Given the description of an element on the screen output the (x, y) to click on. 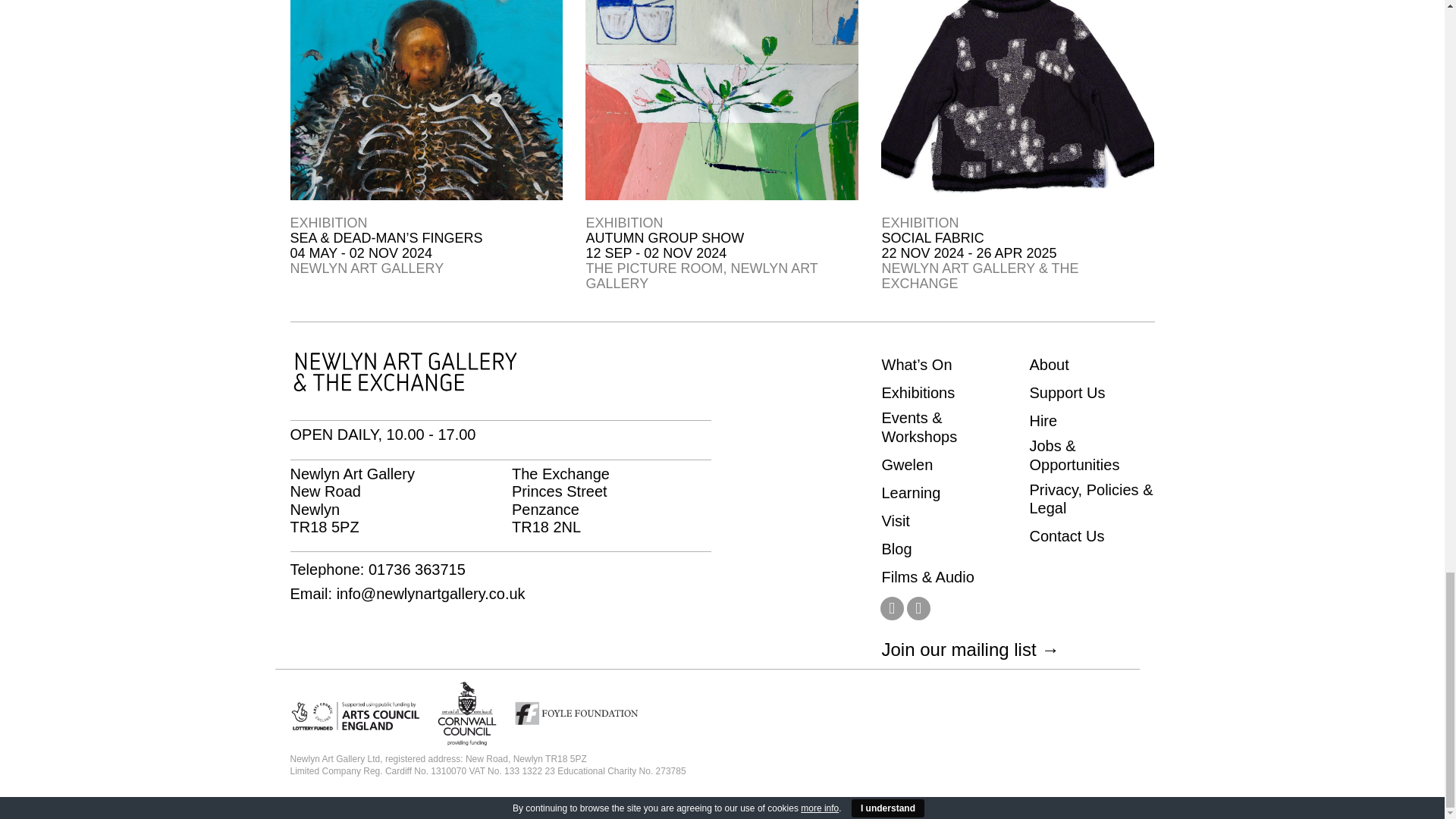
Facebook (890, 608)
Cornwall Council (466, 712)
Gwelen (906, 465)
Learning (910, 493)
Instagram (918, 608)
Arts Council England (354, 712)
Exhibitions (917, 393)
Foyle Foundation (576, 712)
